Given the description of an element on the screen output the (x, y) to click on. 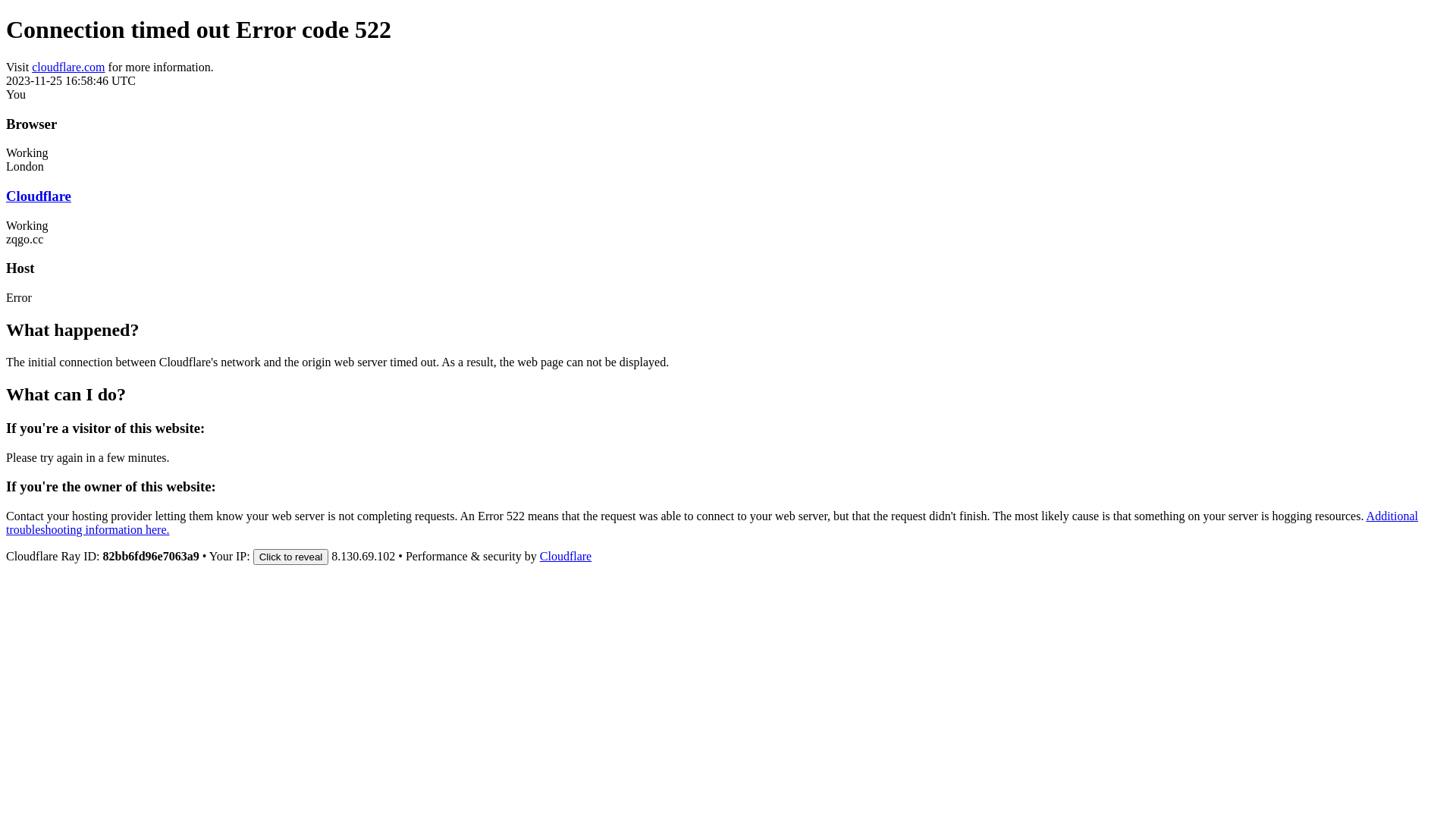
cloudflare.com Element type: text (67, 66)
Cloudflare Element type: text (565, 555)
Click to reveal Element type: text (291, 556)
Cloudflare Element type: text (38, 195)
Additional troubleshooting information here. Element type: text (712, 522)
